Given the description of an element on the screen output the (x, y) to click on. 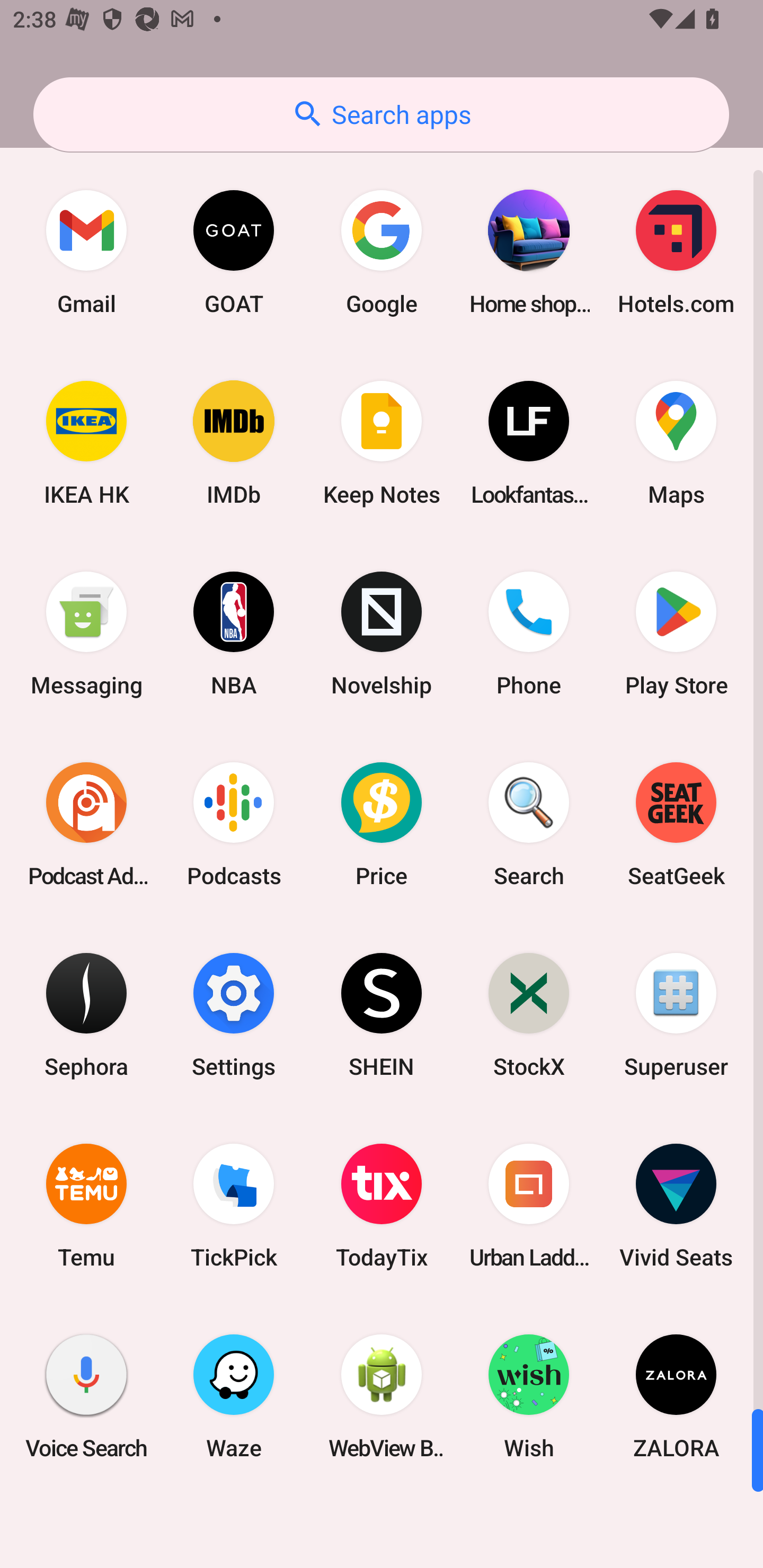
  Search apps (381, 114)
Gmail (86, 252)
GOAT (233, 252)
Google (381, 252)
Home shopping (528, 252)
Hotels.com (676, 252)
IKEA HK (86, 442)
IMDb (233, 442)
Keep Notes (381, 442)
Lookfantastic (528, 442)
Maps (676, 442)
Messaging (86, 633)
NBA (233, 633)
Novelship (381, 633)
Phone (528, 633)
Play Store (676, 633)
Podcast Addict (86, 823)
Podcasts (233, 823)
Price (381, 823)
Search (528, 823)
SeatGeek (676, 823)
Sephora (86, 1014)
Settings (233, 1014)
SHEIN (381, 1014)
StockX (528, 1014)
Superuser (676, 1014)
Temu (86, 1205)
TickPick (233, 1205)
TodayTix (381, 1205)
Urban Ladder (528, 1205)
Vivid Seats (676, 1205)
Voice Search (86, 1396)
Waze (233, 1396)
WebView Browser Tester (381, 1396)
Wish (528, 1396)
ZALORA (676, 1396)
